Given the description of an element on the screen output the (x, y) to click on. 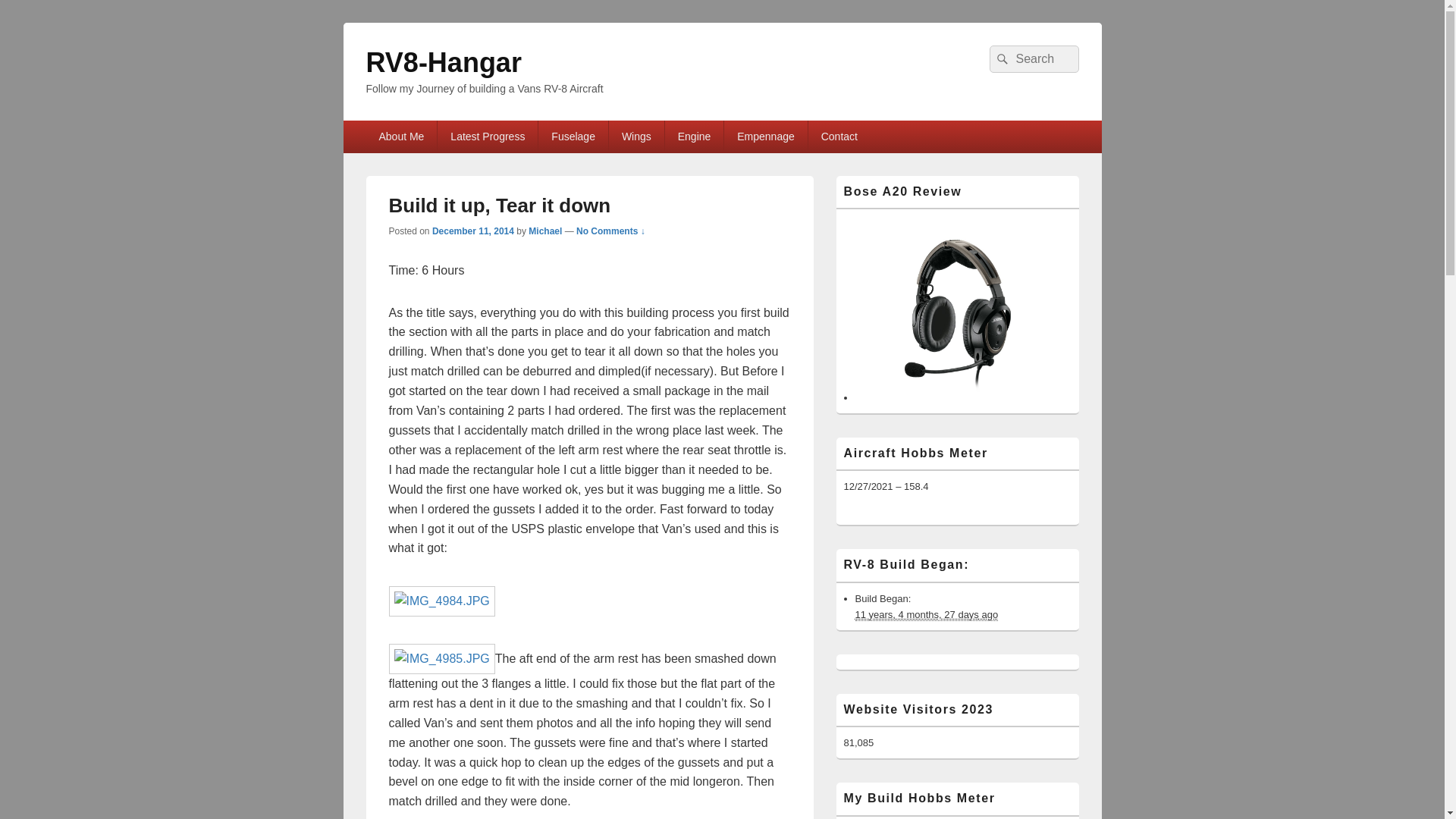
Engine (694, 136)
RV8-Hangar (443, 61)
December 11, 2014 (472, 231)
21:17 (472, 231)
About Me (400, 136)
Empennage (764, 136)
Michael (545, 231)
View all posts by Michael (545, 231)
Contact (839, 136)
March 4th, 2013, 1:00 am (927, 614)
Search for: (1033, 58)
Latest Progress (487, 136)
Wings (635, 136)
